Given the description of an element on the screen output the (x, y) to click on. 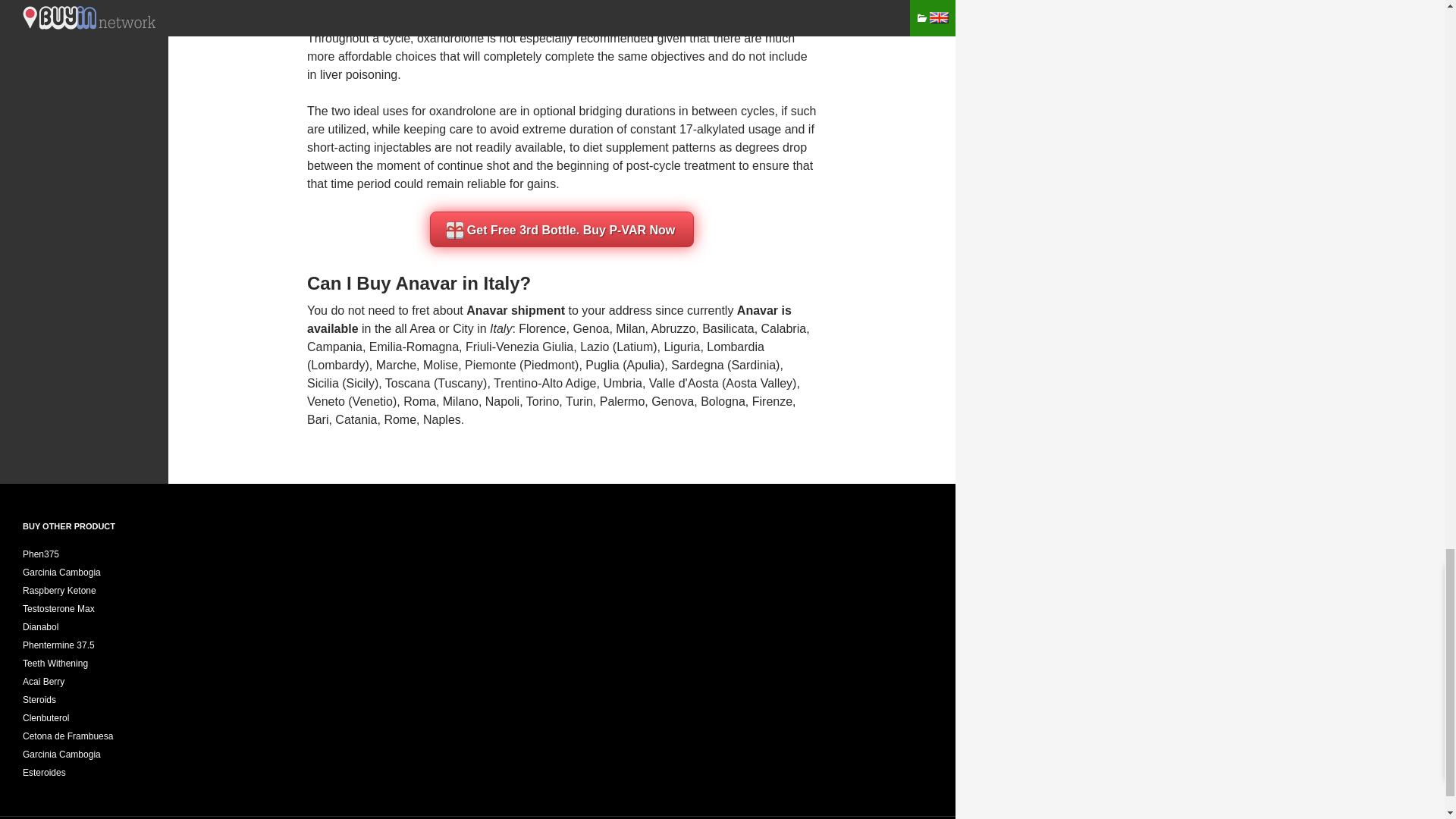
Where to Buy Anavar in Florence (542, 328)
Genoa (590, 328)
Campania (334, 346)
Where to Buy Anavar in Calabria (783, 328)
Basilicata (727, 328)
Where to Buy Anavar in Liguria (681, 346)
Where to Buy Anavar in Marche (395, 364)
Abruzzo (672, 328)
Where to Buy Anavar in Friuli-Venezia Giulia (519, 346)
Liguria (681, 346)
